Given the description of an element on the screen output the (x, y) to click on. 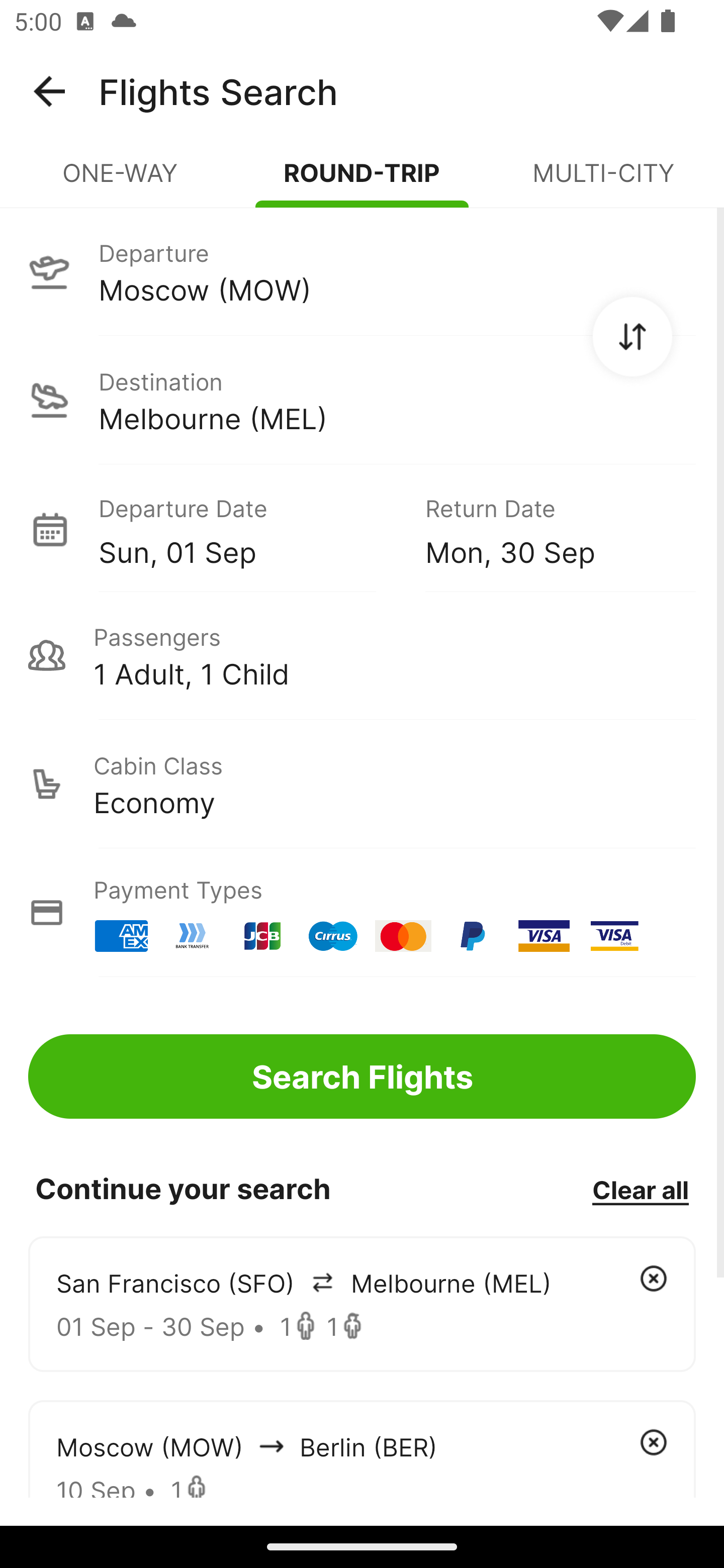
ONE-WAY (120, 180)
ROUND-TRIP (361, 180)
MULTI-CITY (603, 180)
Departure Moscow (MOW) (362, 270)
Destination Melbourne (MEL) (362, 400)
Departure Date Sun, 01 Sep (247, 528)
Return Date Mon, 30 Sep (546, 528)
Passengers 1 Adult, 1 Child (362, 655)
Cabin Class Economy (362, 783)
Payment Types (362, 912)
Search Flights (361, 1075)
Clear all (640, 1189)
Moscow (MOW)  arrowIcon  Berlin (BER) 10 Sep •  1  (361, 1448)
